Given the description of an element on the screen output the (x, y) to click on. 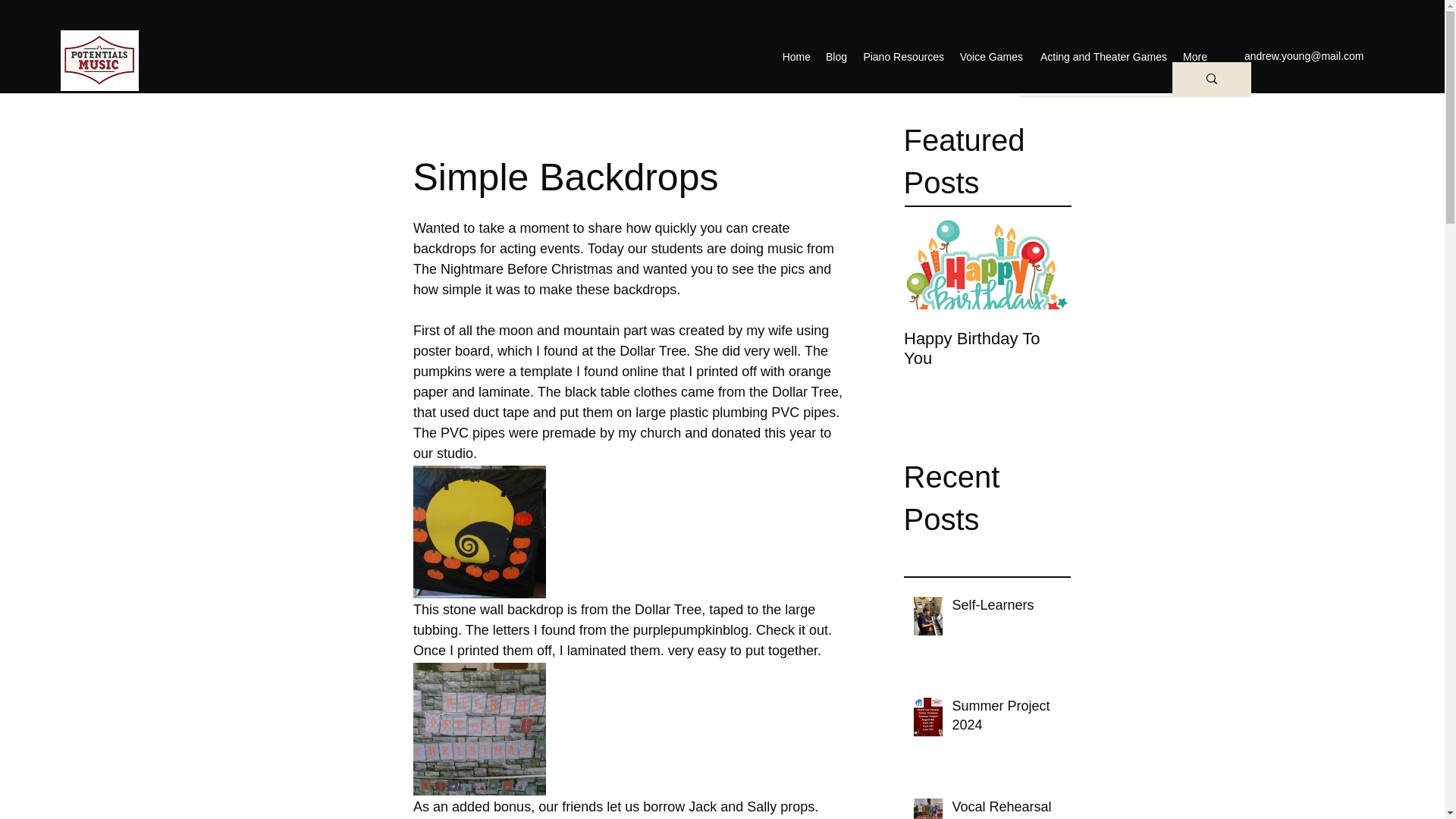
Blog (836, 56)
Voice Games (991, 56)
Summer Project 2024 (1006, 718)
Self-Learners (1006, 608)
Acting and Theater Games (1102, 56)
Happy Birthday To You (987, 348)
Piano Resources (903, 56)
Vocal Rehearsal for Summer Project (1006, 808)
Home (796, 56)
